Given the description of an element on the screen output the (x, y) to click on. 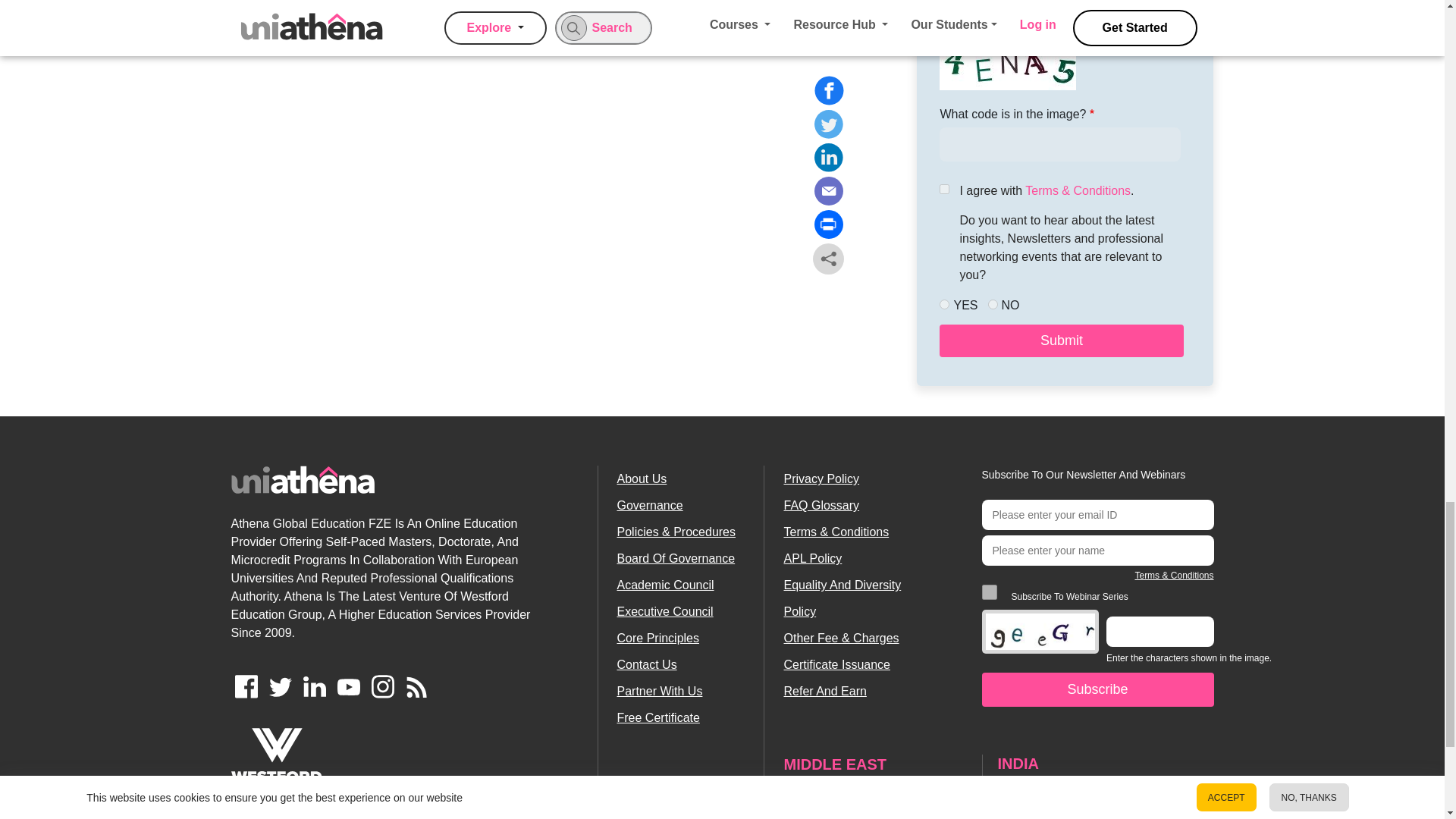
no (992, 304)
Submit (1060, 340)
yes (944, 304)
1 (944, 189)
Image CAPTCHA (1007, 67)
Image CAPTCHA (1040, 631)
1 (988, 591)
Subscribe (1096, 689)
